Given the description of an element on the screen output the (x, y) to click on. 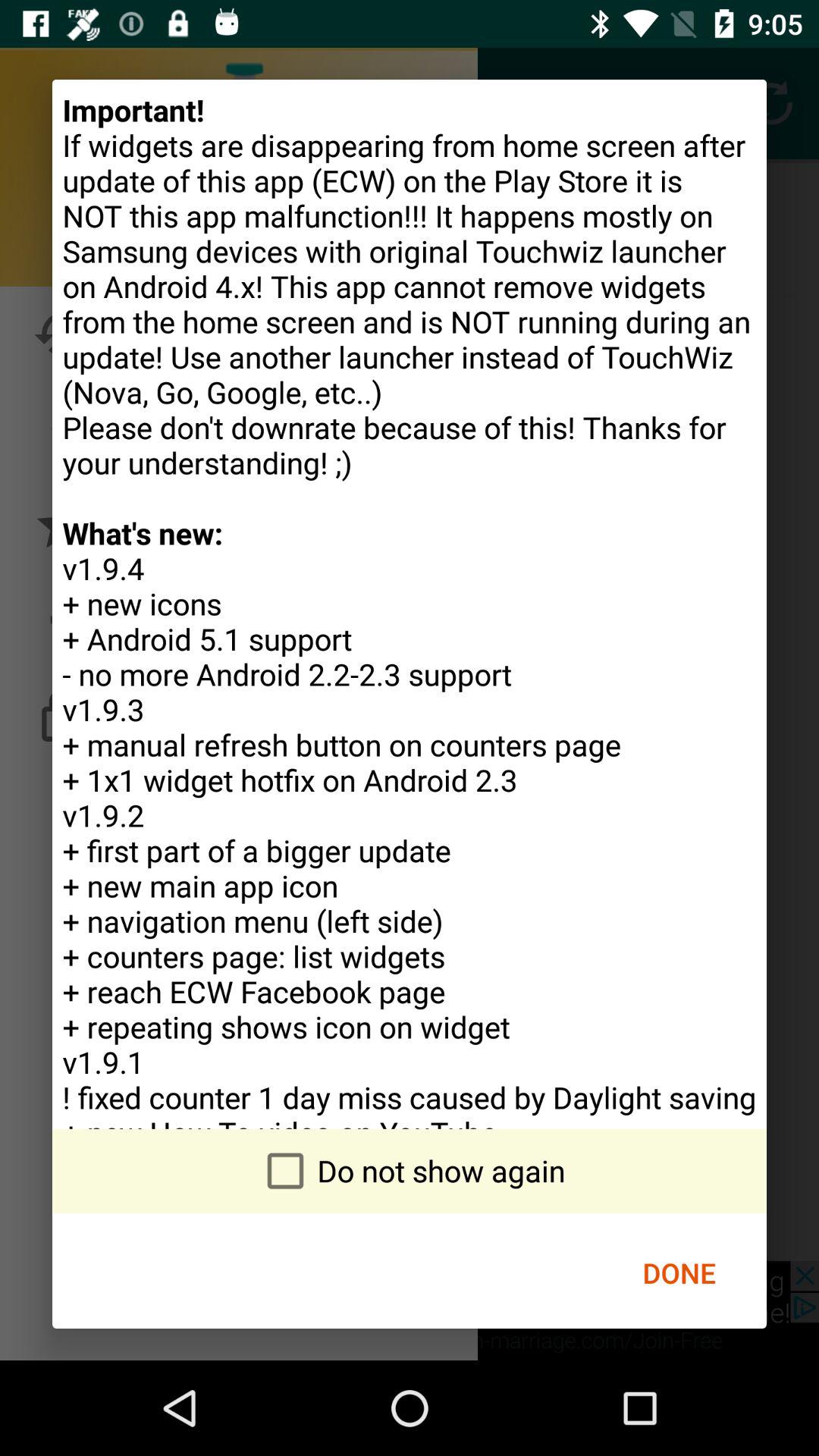
select icon at the bottom right corner (678, 1272)
